Given the description of an element on the screen output the (x, y) to click on. 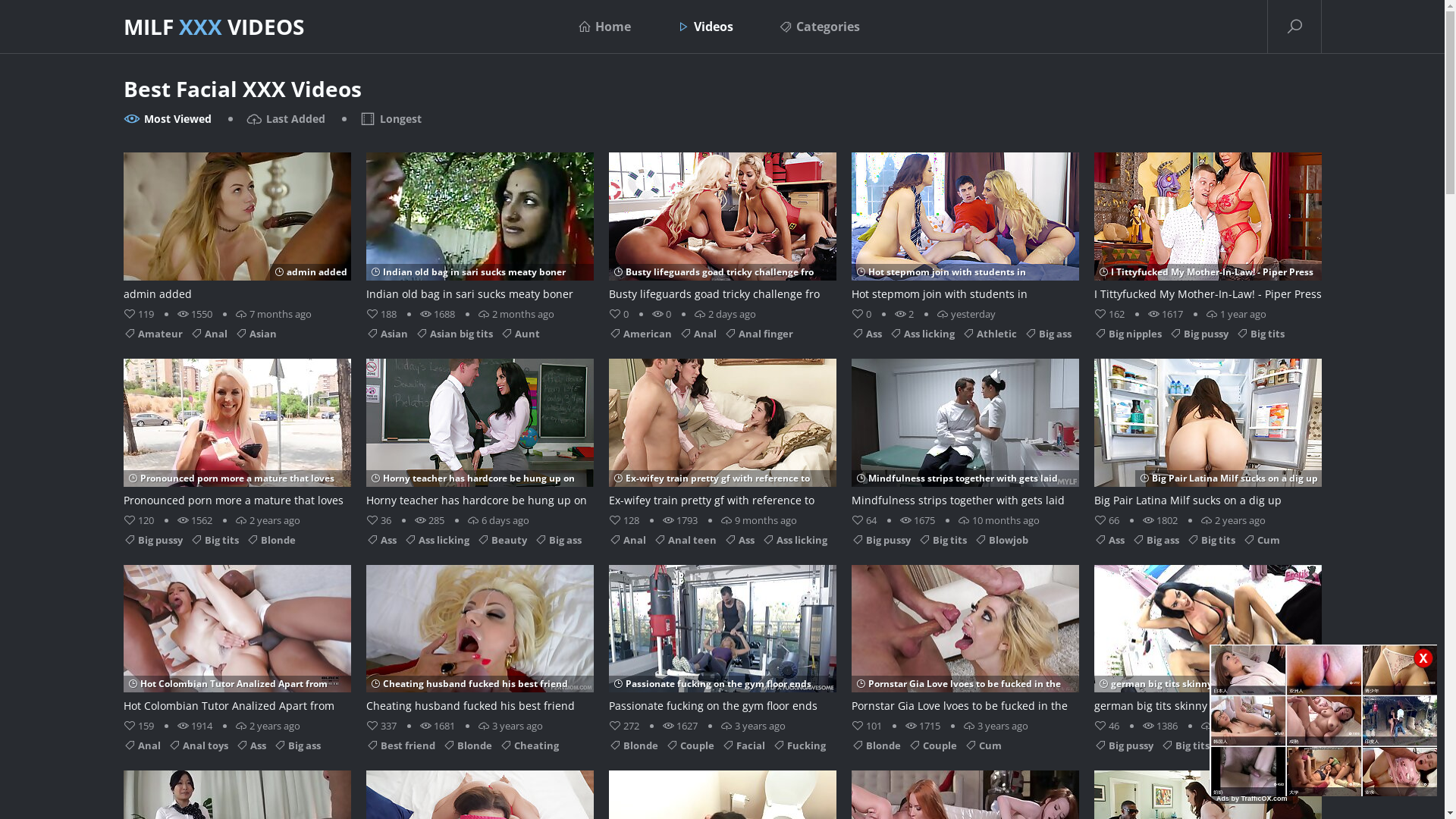
American Element type: text (639, 333)
Aunt Element type: text (519, 333)
Anal Element type: text (141, 745)
Big pussy Element type: text (1122, 745)
Anal Element type: text (626, 539)
Asian Element type: text (255, 333)
Blonde Element type: text (467, 745)
Ass licking Element type: text (920, 333)
Blonde Element type: text (632, 745)
Asian Element type: text (386, 333)
Ass Element type: text (738, 539)
Amateur Element type: text (152, 333)
I Tittyfucked My Mother-In-Law! - Piper Press & Alex Mack Element type: text (1207, 228)
Facial Element type: text (743, 745)
Big tits Element type: text (941, 539)
Big nipples Element type: text (1127, 333)
Anal Element type: text (697, 333)
Ex-wifey train pretty gf with reference to blow and poke Element type: text (721, 434)
Cheating Element type: text (528, 745)
MILF XXX VIDEOS Element type: text (212, 26)
Ass Element type: text (1108, 539)
Asian big tits Element type: text (453, 333)
Horny teacher has hardcore be hung up on alongside a facial Element type: text (479, 434)
Ass Element type: text (865, 333)
Best friend Element type: text (399, 745)
Big tits Element type: text (1210, 539)
Anal teen Element type: text (684, 539)
Videos Element type: text (704, 26)
Athletic Element type: text (988, 333)
admin added Element type: text (236, 228)
Most Viewed Element type: text (166, 118)
Big pussy Element type: text (1198, 333)
Couple Element type: text (689, 745)
Couple Element type: text (932, 745)
Big tits Element type: text (213, 539)
Beauty Element type: text (501, 539)
Anal toys Element type: text (198, 745)
Blonde Element type: text (269, 539)
Big tits Element type: text (1184, 745)
german big tits skinny brunette milf facial after smoke Element type: text (1207, 639)
Cum Element type: text (982, 745)
Fucking Element type: text (798, 745)
Busty lifeguards goad tricky challenge fro threesome Element type: text (721, 228)
Ass Element type: text (250, 745)
Big ass Element type: text (296, 745)
Categories Element type: text (818, 26)
Big ass Element type: text (1154, 539)
Last Added Element type: text (285, 118)
Ass Element type: text (380, 539)
Pronounced porn more a mature that loves some extra cash Element type: text (236, 434)
Ass licking Element type: text (793, 539)
Ass licking Element type: text (435, 539)
Home Element type: text (603, 26)
Bikini Element type: text (1237, 745)
Anal finger Element type: text (757, 333)
Big Pair Latina Milf sucks on a dig up Element type: text (1207, 434)
Blowjob Element type: text (1000, 539)
Ads by TrafficOX.com Element type: text (1251, 798)
Big ass Element type: text (1046, 333)
Hot stepmom join with students in threesome Element type: text (964, 228)
Anal Element type: text (207, 333)
Longest Element type: text (390, 118)
Big pussy Element type: text (152, 539)
Big ass Element type: text (556, 539)
Big tits Element type: text (1260, 333)
Big pussy Element type: text (880, 539)
Cum Element type: text (1260, 539)
Blonde Element type: text (875, 745)
